Given the description of an element on the screen output the (x, y) to click on. 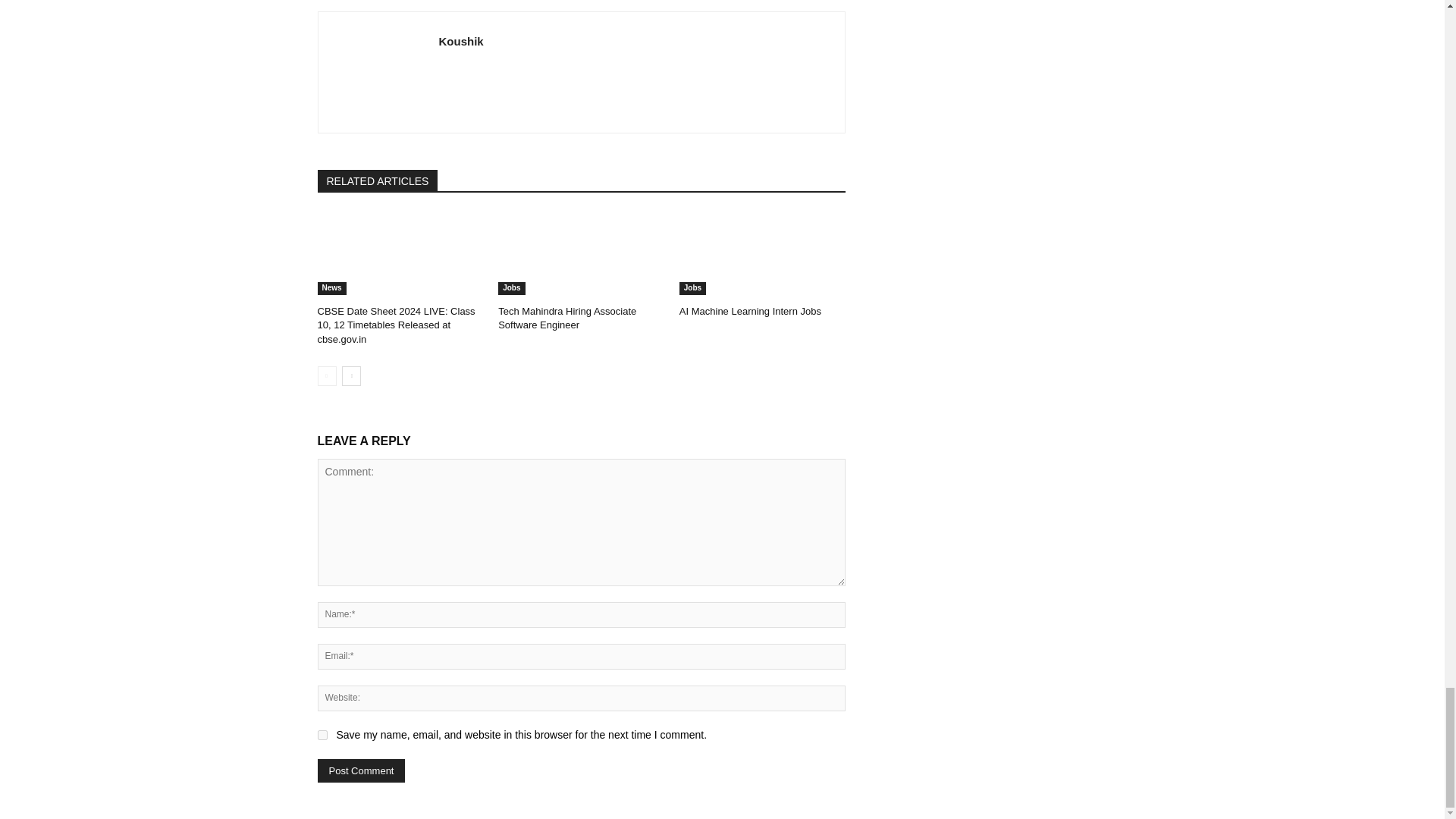
yes (321, 735)
Post Comment (360, 770)
